Given the description of an element on the screen output the (x, y) to click on. 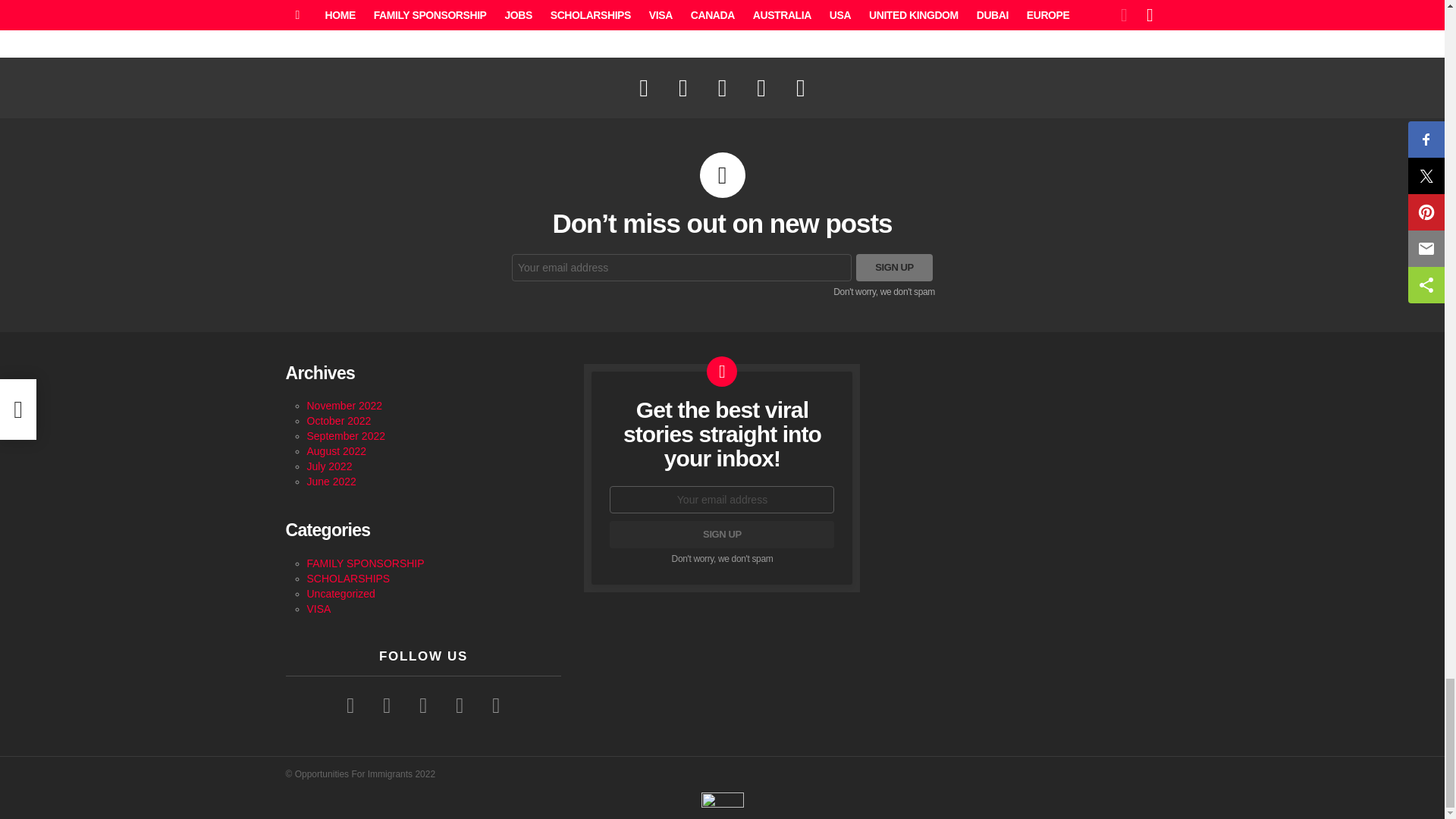
Sign up (894, 267)
Sign up (722, 533)
